Given the description of an element on the screen output the (x, y) to click on. 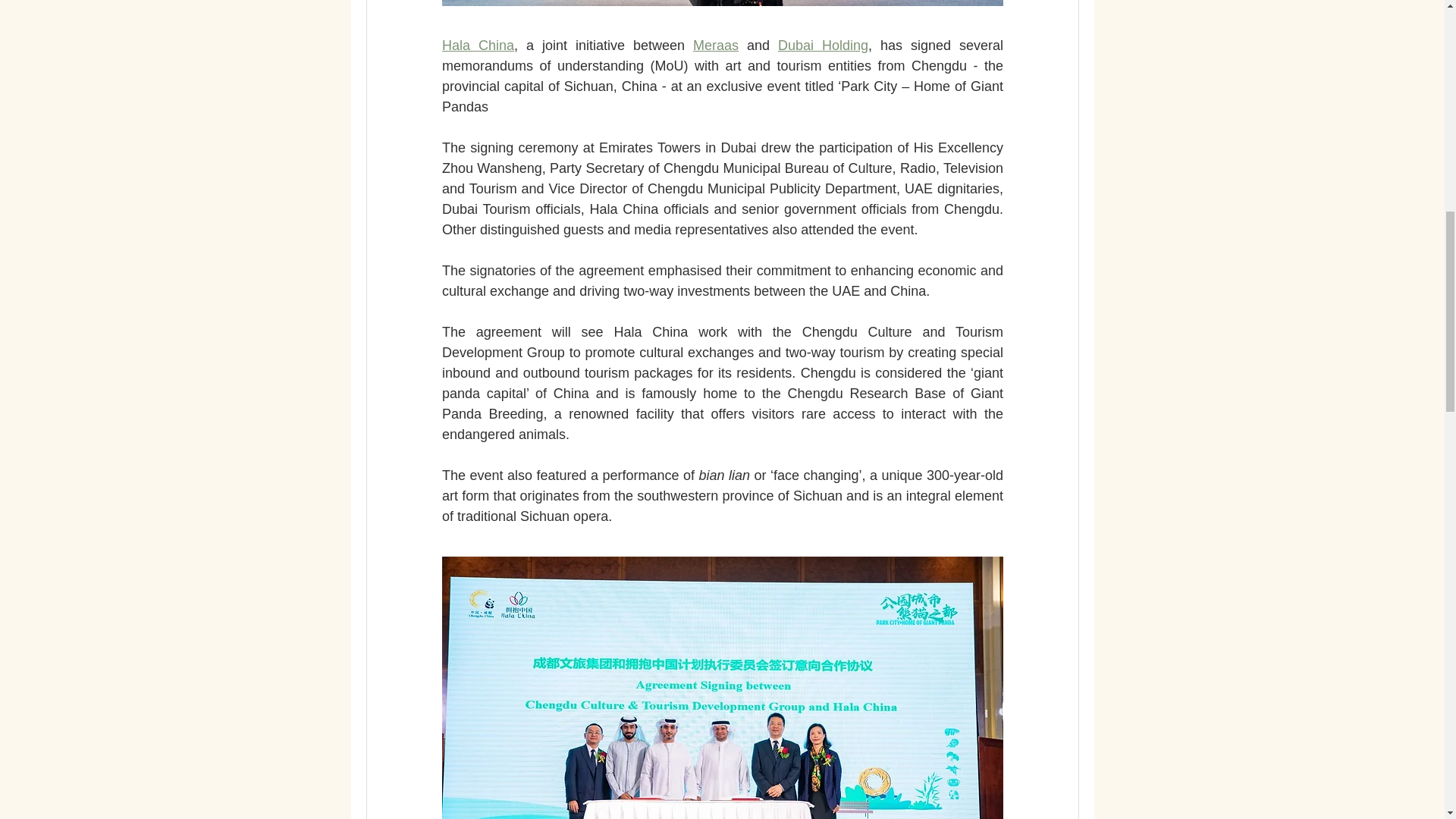
Hala China (477, 45)
Dubai Holding (822, 45)
Meraas (715, 45)
